Given the description of an element on the screen output the (x, y) to click on. 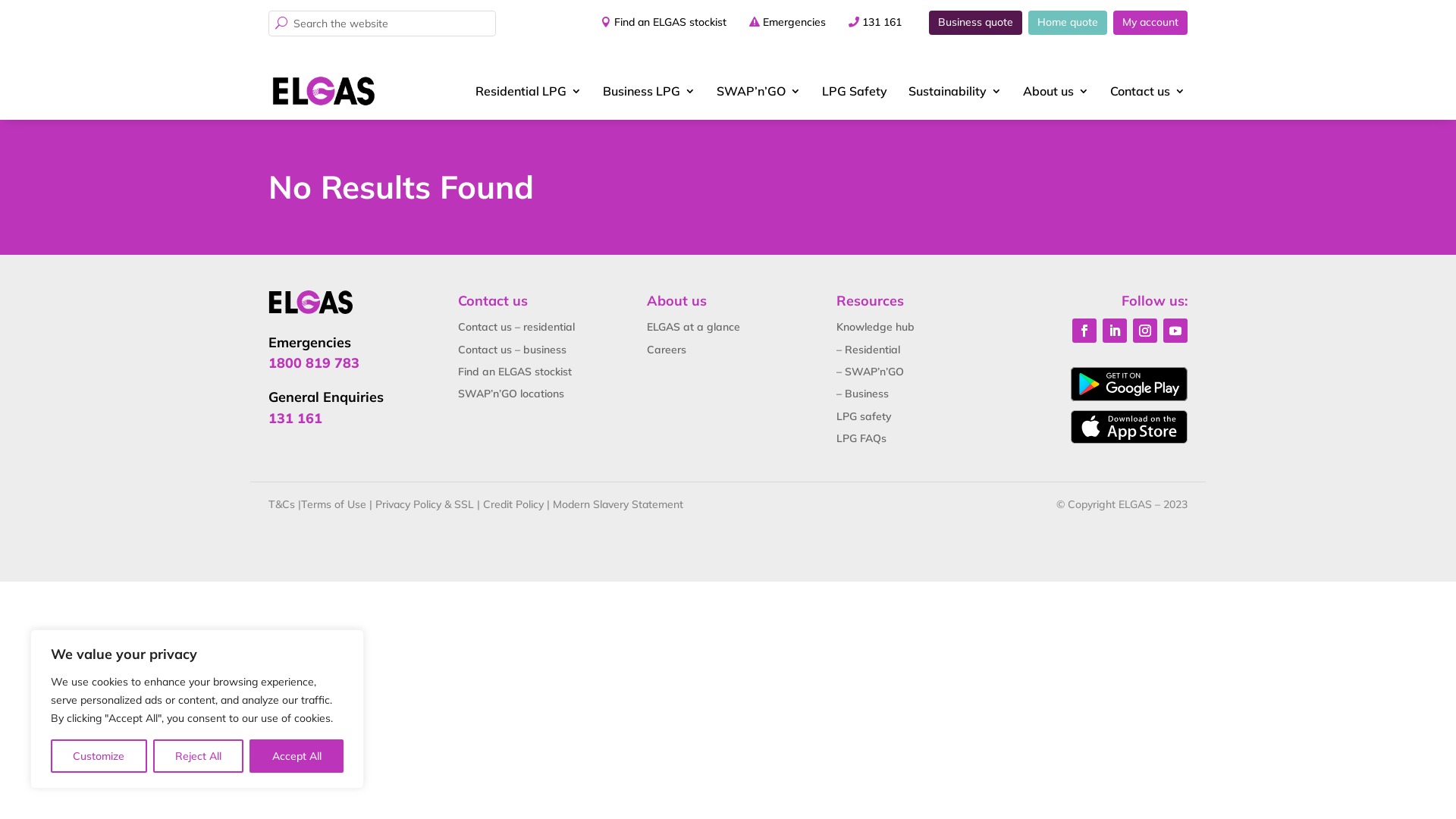
Business quote Element type: text (975, 22)
Customize Element type: text (98, 755)
Credit Policy Element type: text (513, 504)
Emergencies Element type: text (793, 22)
Follow on Youtube Element type: hover (1175, 330)
Privacy Policy & SSL Element type: text (424, 504)
Business LPG Element type: text (648, 90)
Modern Slavery Statement Element type: text (617, 504)
Residential LPG Element type: text (528, 90)
Terms of Use Element type: text (333, 504)
My account Element type: text (1150, 22)
Follow on Instagram Element type: hover (1144, 330)
Follow on Facebook Element type: hover (1084, 330)
Reject All Element type: text (198, 755)
131 161 Element type: text (295, 417)
Search Element type: text (24, 12)
Home quote Element type: text (1067, 22)
Contact us Element type: text (1147, 90)
Knowledge hub Element type: text (875, 326)
T&Cs Element type: text (281, 504)
Find an ELGAS stockist Element type: text (658, 22)
Accept All Element type: text (296, 755)
Follow on LinkedIn Element type: hover (1114, 330)
LPG safety Element type: text (863, 416)
ELGAS at a glance Element type: text (693, 326)
appstore Element type: hover (1128, 426)
LPG Safety Element type: text (854, 90)
Sustainability Element type: text (954, 90)
131 161 Element type: text (881, 22)
About us Element type: text (1055, 90)
Careers Element type: text (666, 349)
1800 819 783 Element type: text (313, 362)
elgas-logo Element type: hover (310, 301)
Find an ELGAS stockist Element type: text (514, 371)
LPG FAQs Element type: text (861, 438)
googleplay Element type: hover (1128, 383)
